Given the description of an element on the screen output the (x, y) to click on. 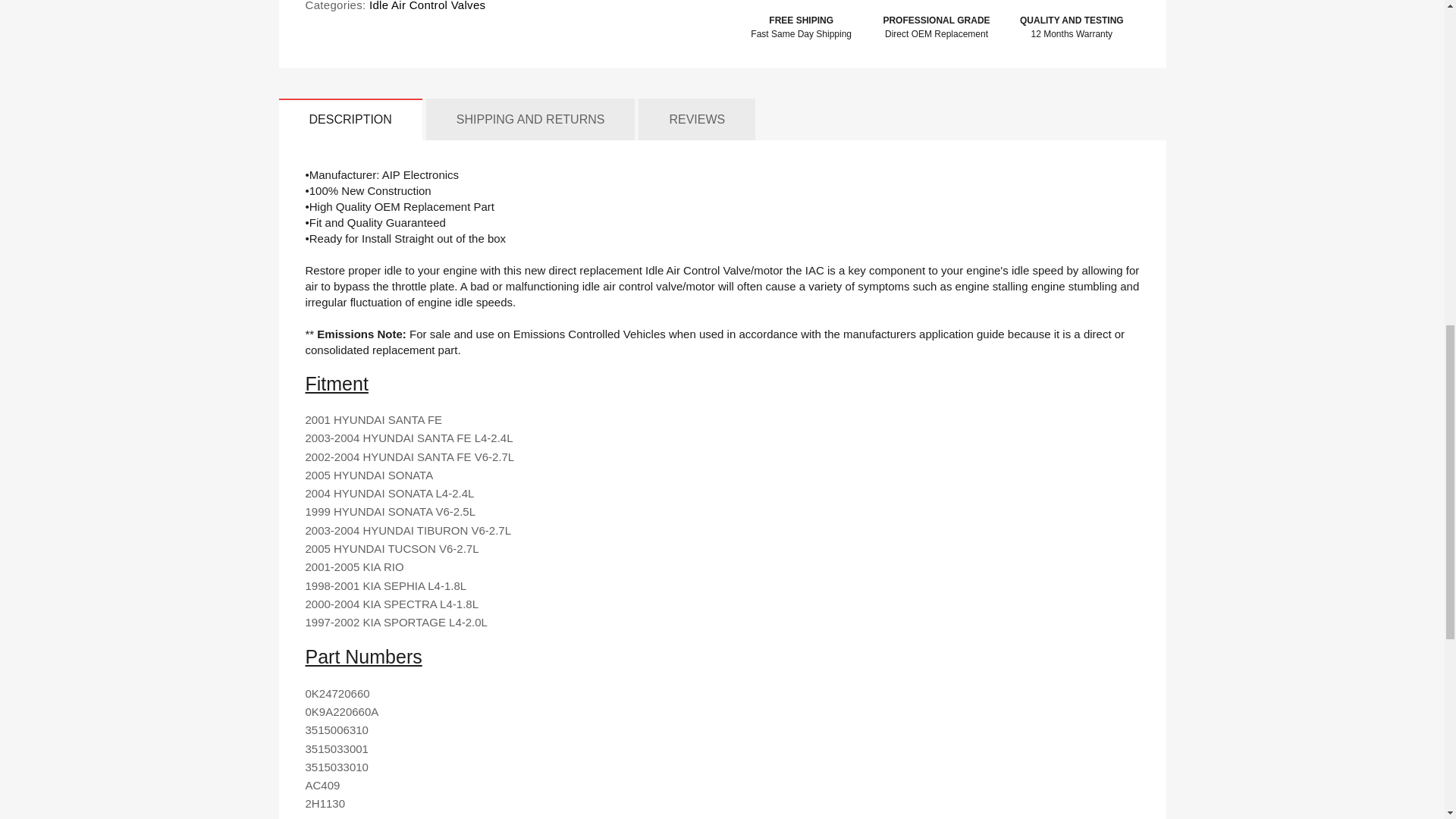
Idle Air Control Valves (426, 5)
